Given the description of an element on the screen output the (x, y) to click on. 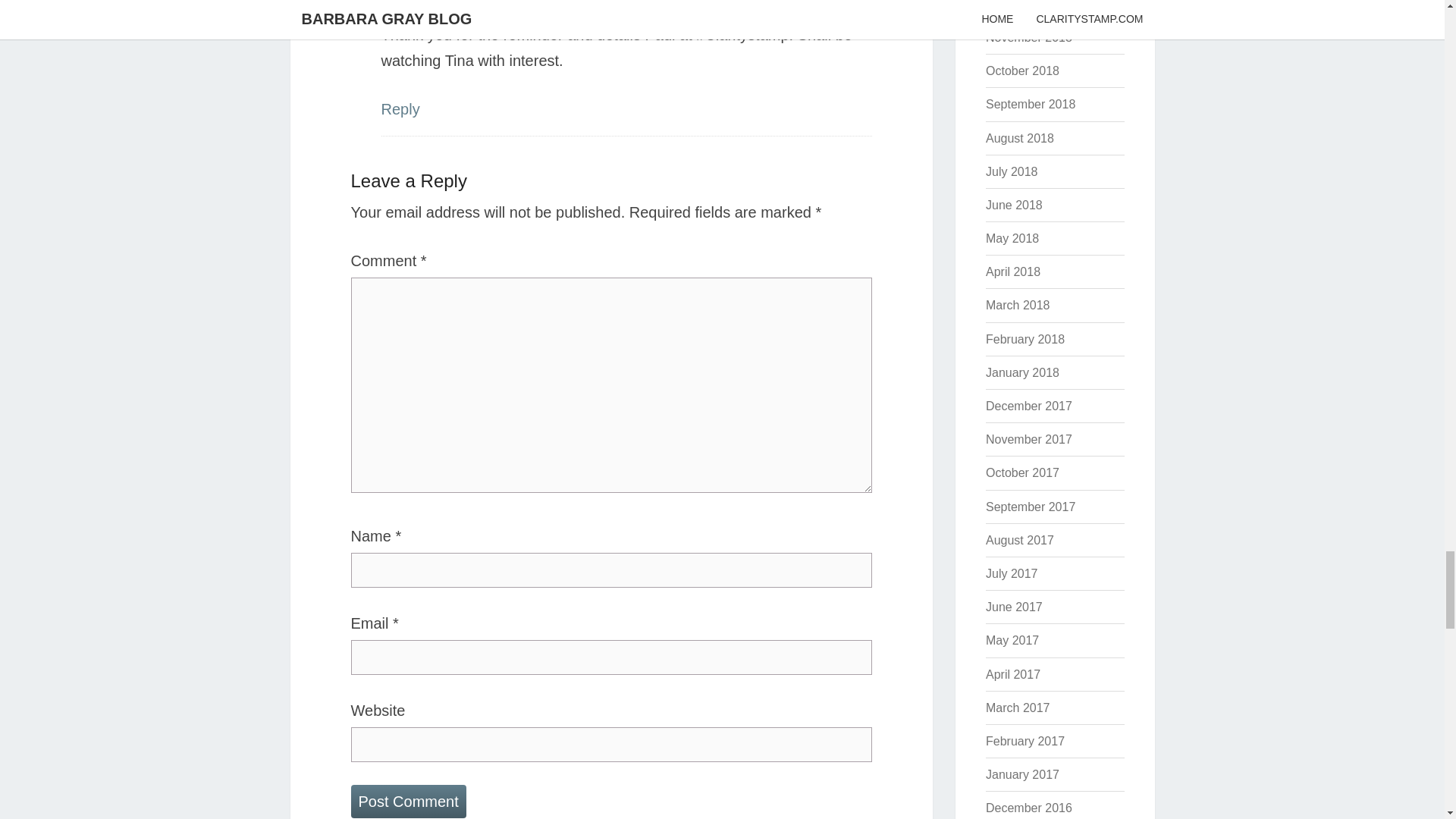
Post Comment (407, 801)
Post Comment (407, 801)
Reply (399, 108)
17th June 2022 at 6:13 pm (452, 10)
